Given the description of an element on the screen output the (x, y) to click on. 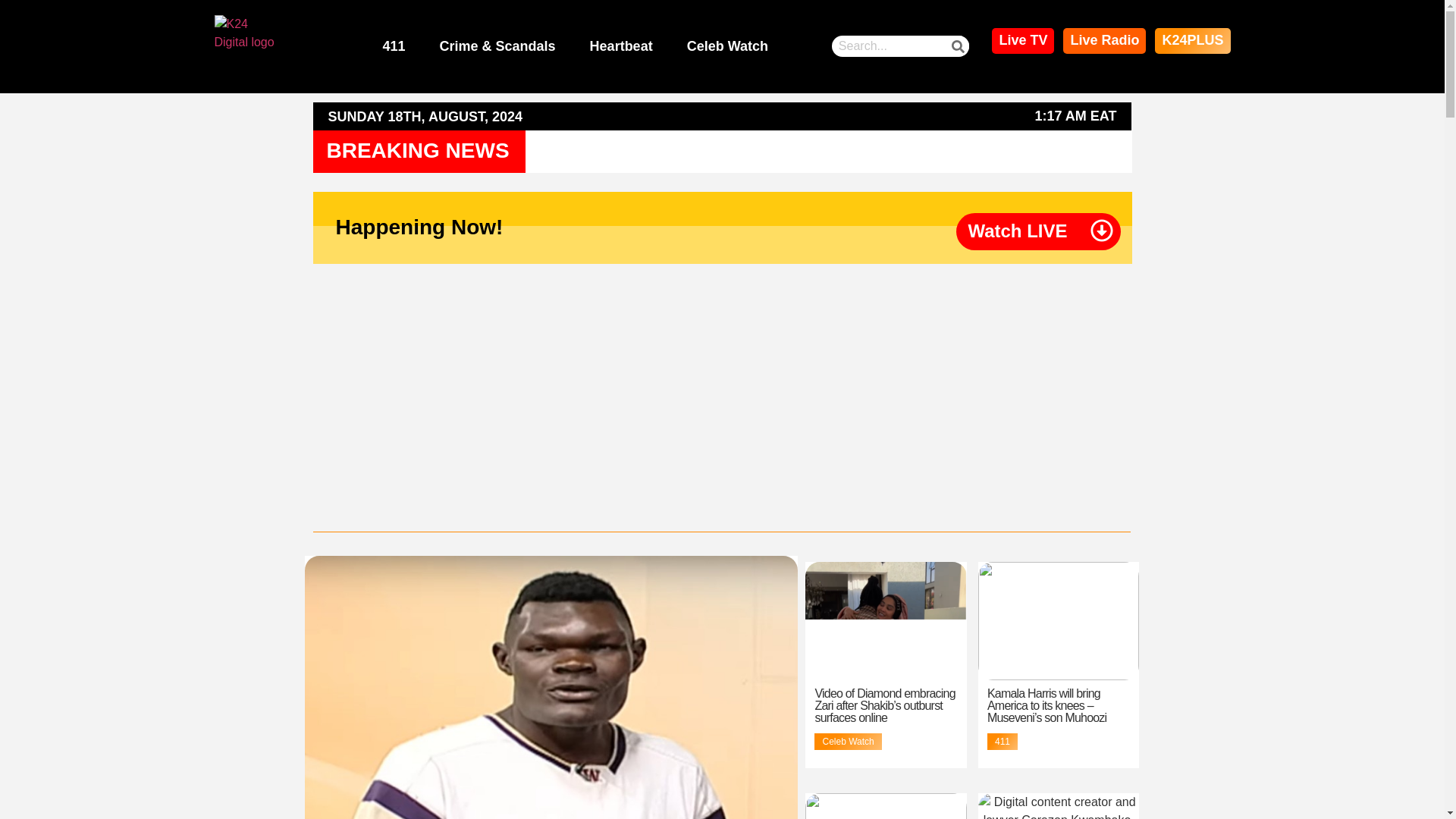
Celeb Watch (727, 46)
Watch LIVE (1017, 230)
Live Radio (1103, 40)
Live TV (1022, 40)
K24PLUS (1192, 40)
